Given the description of an element on the screen output the (x, y) to click on. 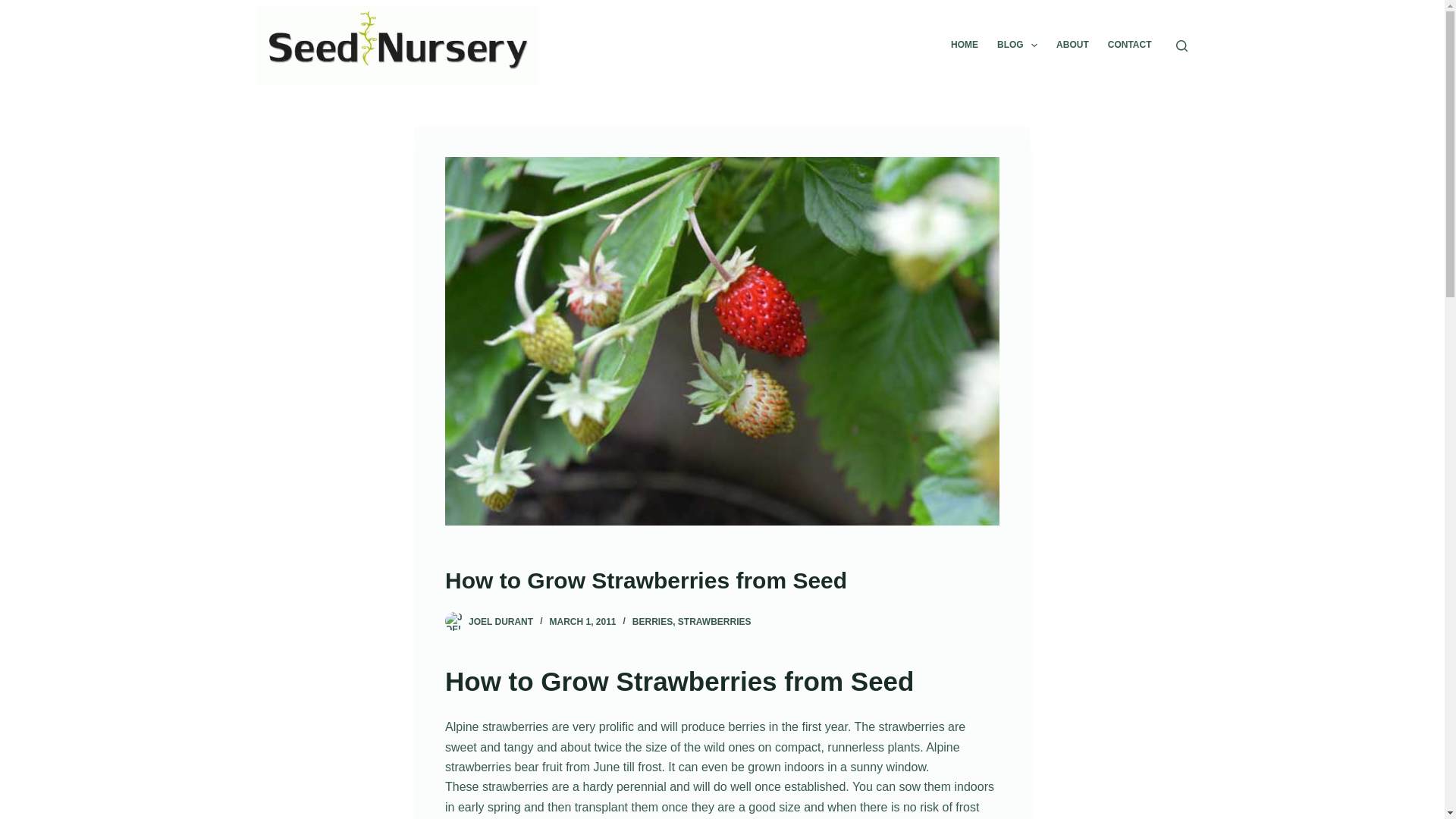
Posts by Joel Durant (500, 621)
How to Grow Strawberries from Seed (721, 580)
Skip to content (15, 7)
